Given the description of an element on the screen output the (x, y) to click on. 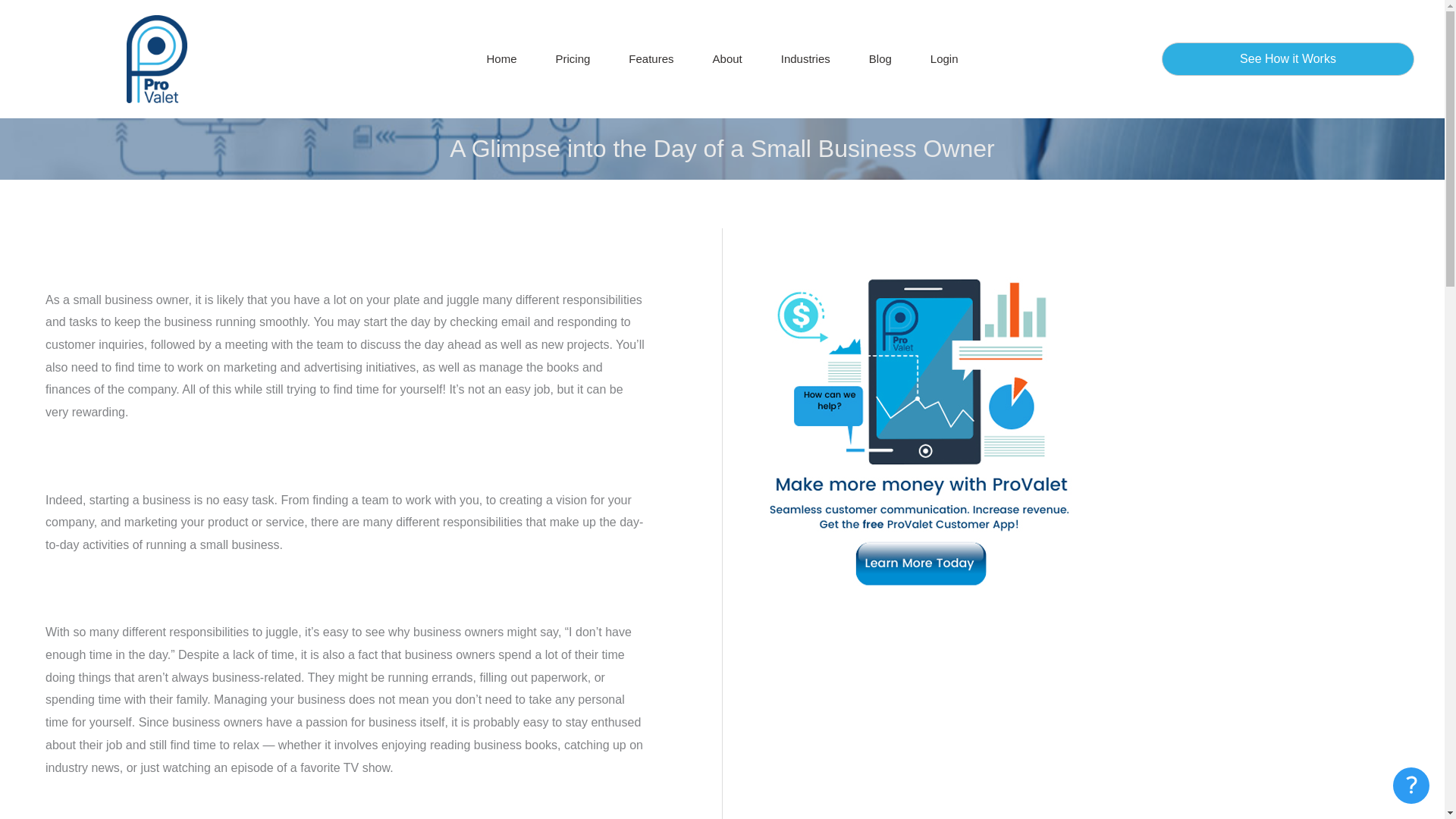
Features (651, 58)
About (727, 58)
See How it Works (1287, 59)
Blog (880, 58)
Pricing (571, 58)
Industries (804, 58)
Login (943, 58)
Home (501, 58)
